Given the description of an element on the screen output the (x, y) to click on. 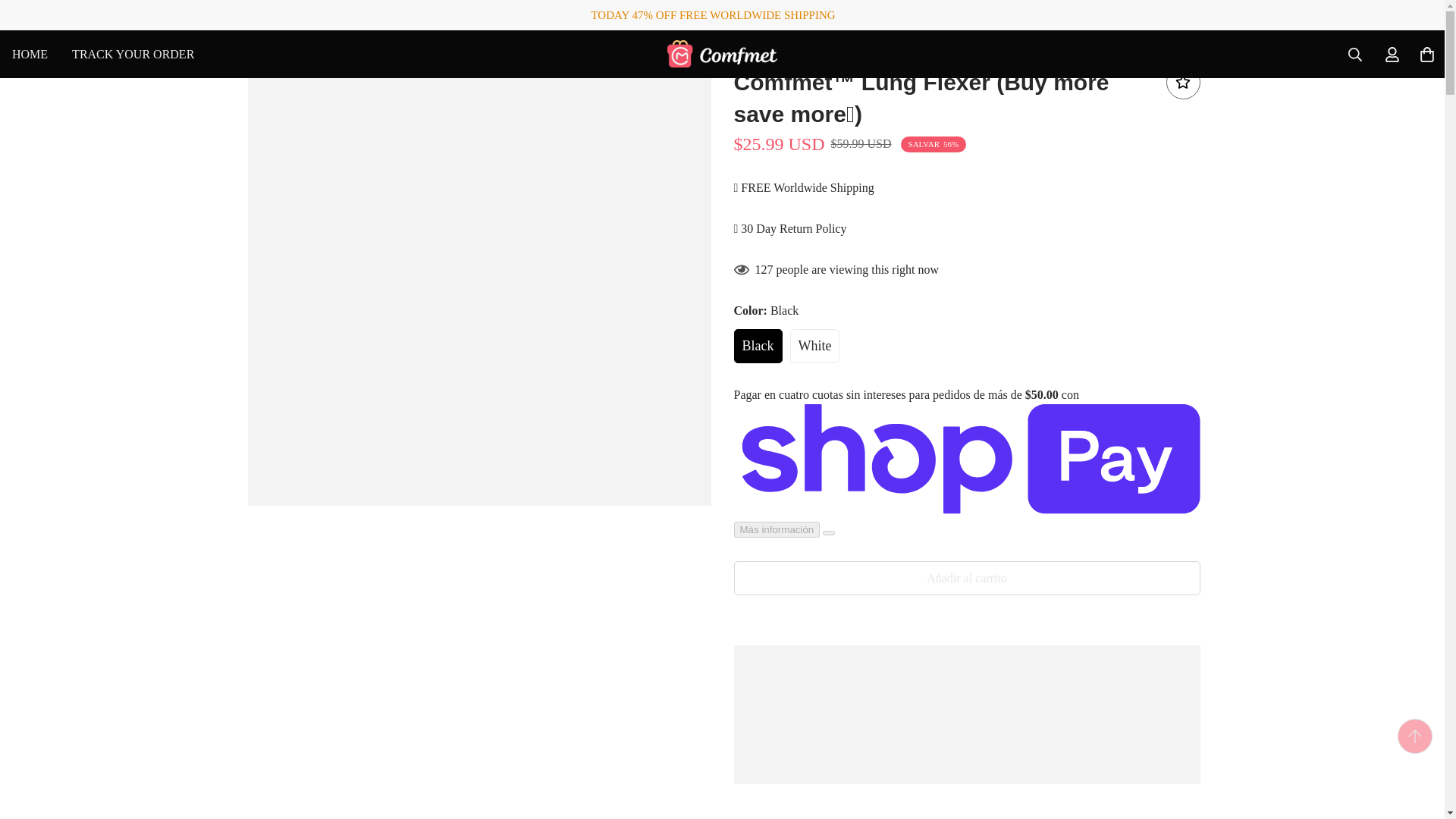
TRACK YOUR ORDER (103, 53)
COMFMET (132, 53)
Black (721, 53)
